Given the description of an element on the screen output the (x, y) to click on. 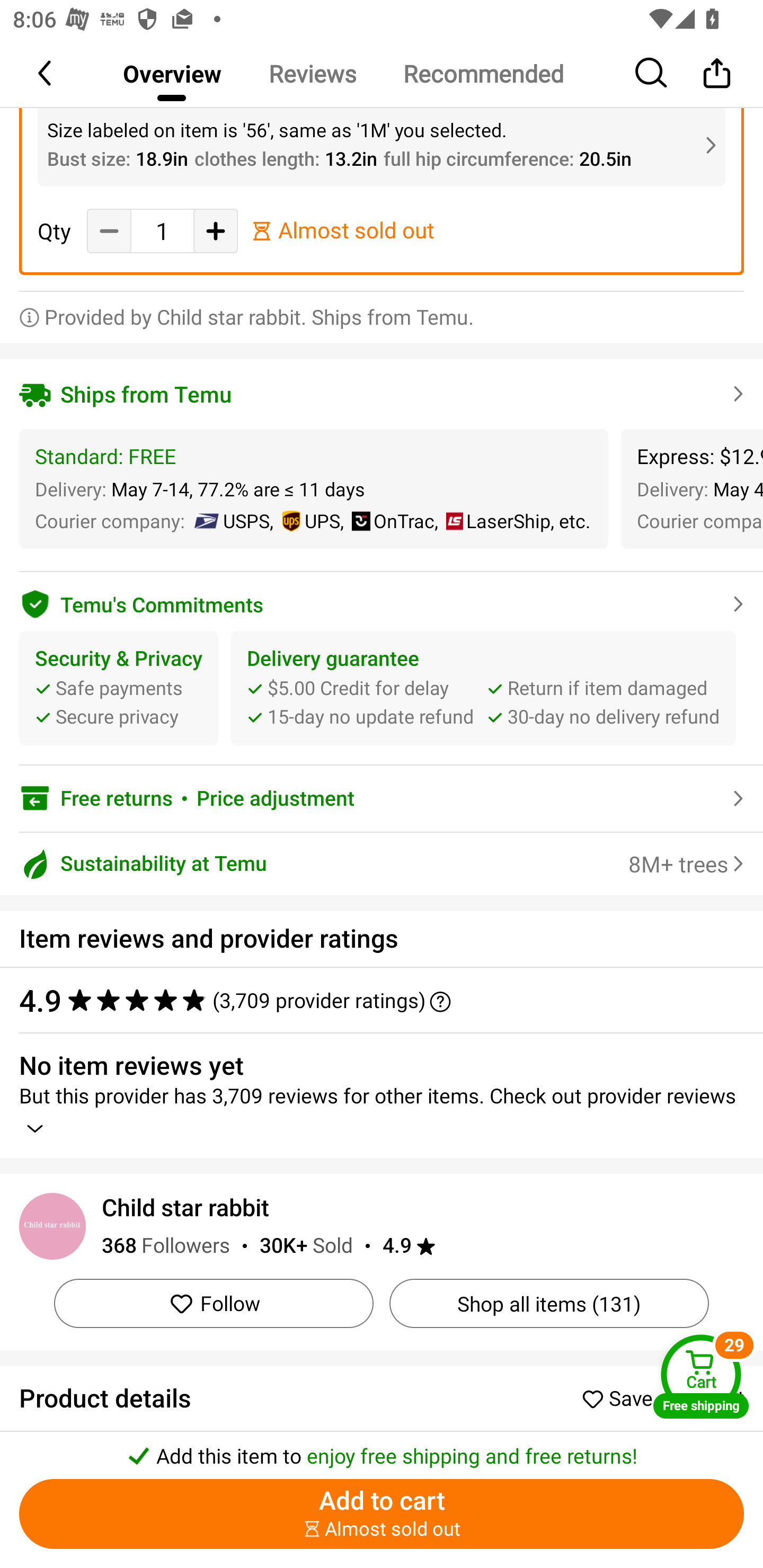
Overview (171, 72)
Reviews (311, 72)
Recommended (482, 72)
Back (46, 72)
Share (716, 72)
Decrease Quantity Button (108, 230)
Add Quantity button (215, 230)
1 (162, 231)
Ships from Temu (381, 394)
Temu's Commitments (381, 601)
Security & Privacy Safe payments Secure privacy (118, 687)
Free returns￼Price adjustment (381, 798)
Sustainability at Temu 8M+ trees (381, 863)
4.9 ‪(3,709 provider ratings) (371, 999)
  Follow (213, 1303)
Shop all items (131) (548, 1303)
Cart Free shipping Cart (701, 1375)
Add to cart ￼￼Almost sold out (381, 1513)
